Given the description of an element on the screen output the (x, y) to click on. 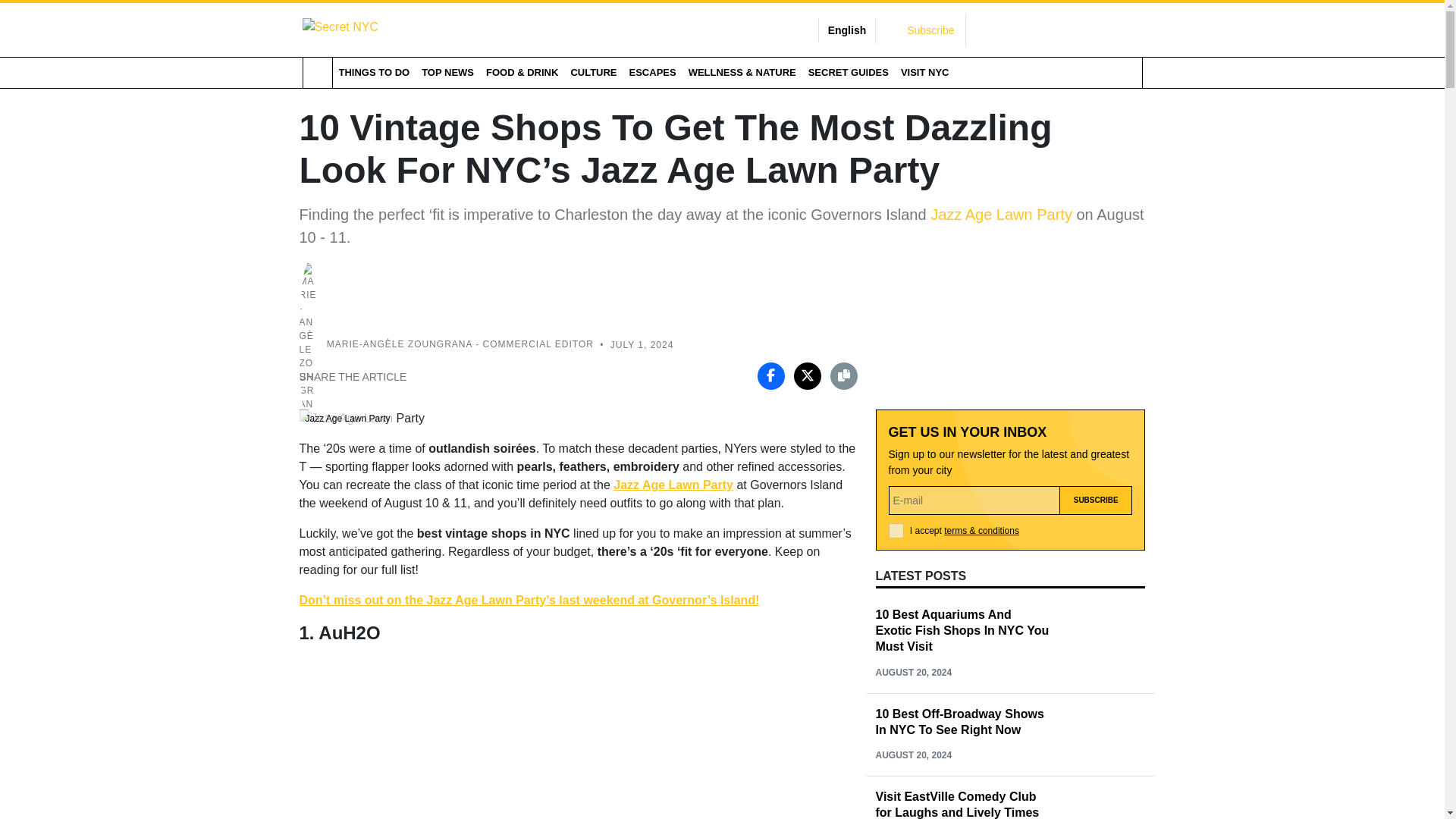
Subscribe (1095, 500)
Jazz Age Lawn Party (1000, 214)
CULTURE (592, 72)
ESCAPES (652, 72)
1 (896, 530)
TOP NEWS (448, 72)
Jazz Age Lawn Party (672, 484)
VISIT NYC (925, 72)
English (847, 29)
SECRET GUIDES (848, 72)
